Given the description of an element on the screen output the (x, y) to click on. 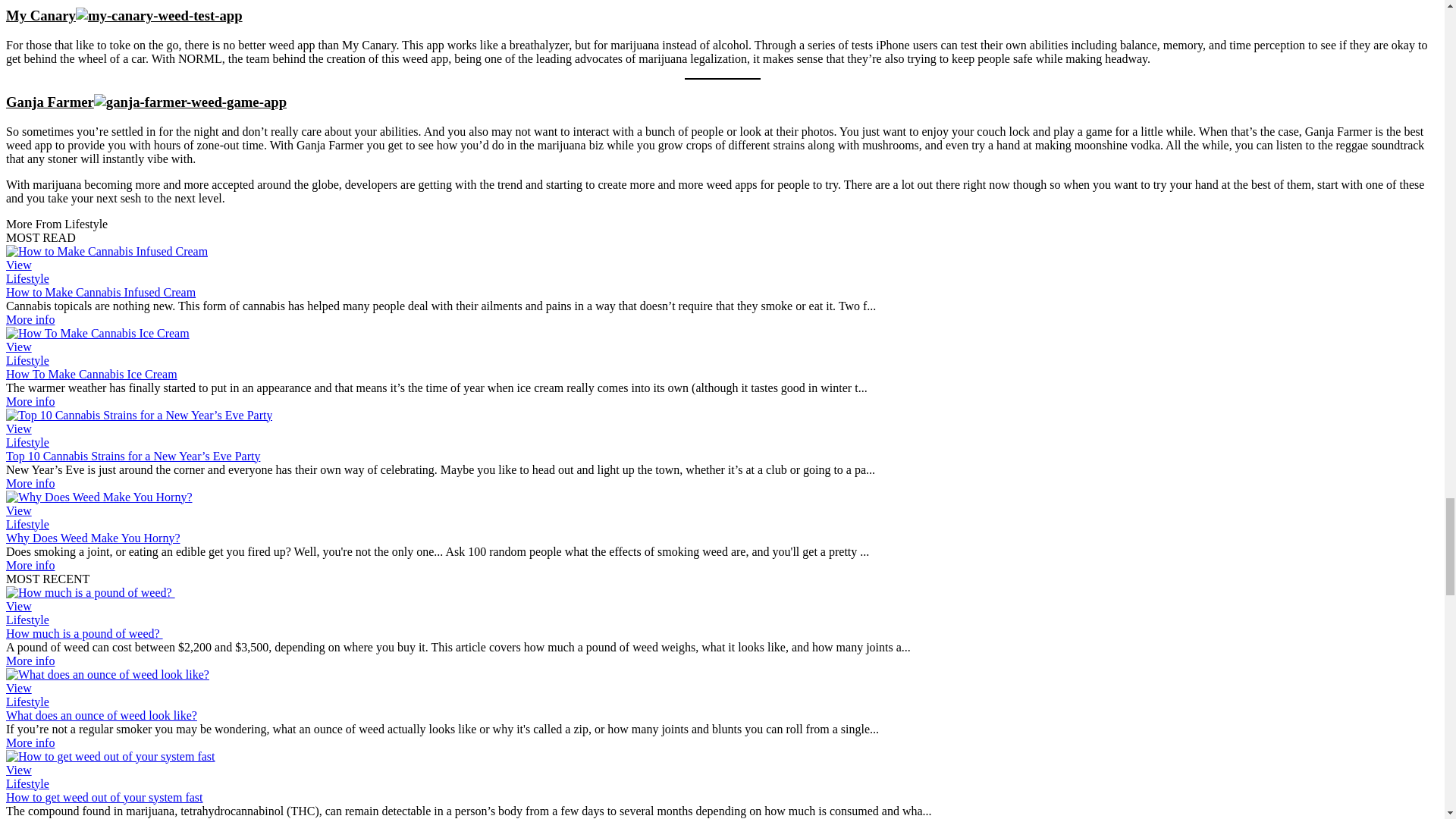
How to Make Cannabis Infused Cream (106, 250)
How To Make Cannabis Ice Cream (91, 373)
How to Make Cannabis Infused Cream (30, 318)
How To Make Cannabis Ice Cream (97, 332)
How To Make Cannabis Ice Cream (30, 400)
How To Make Cannabis Ice Cream (18, 346)
How to Make Cannabis Infused Cream (18, 264)
How to Make Cannabis Infused Cream (100, 291)
